Given the description of an element on the screen output the (x, y) to click on. 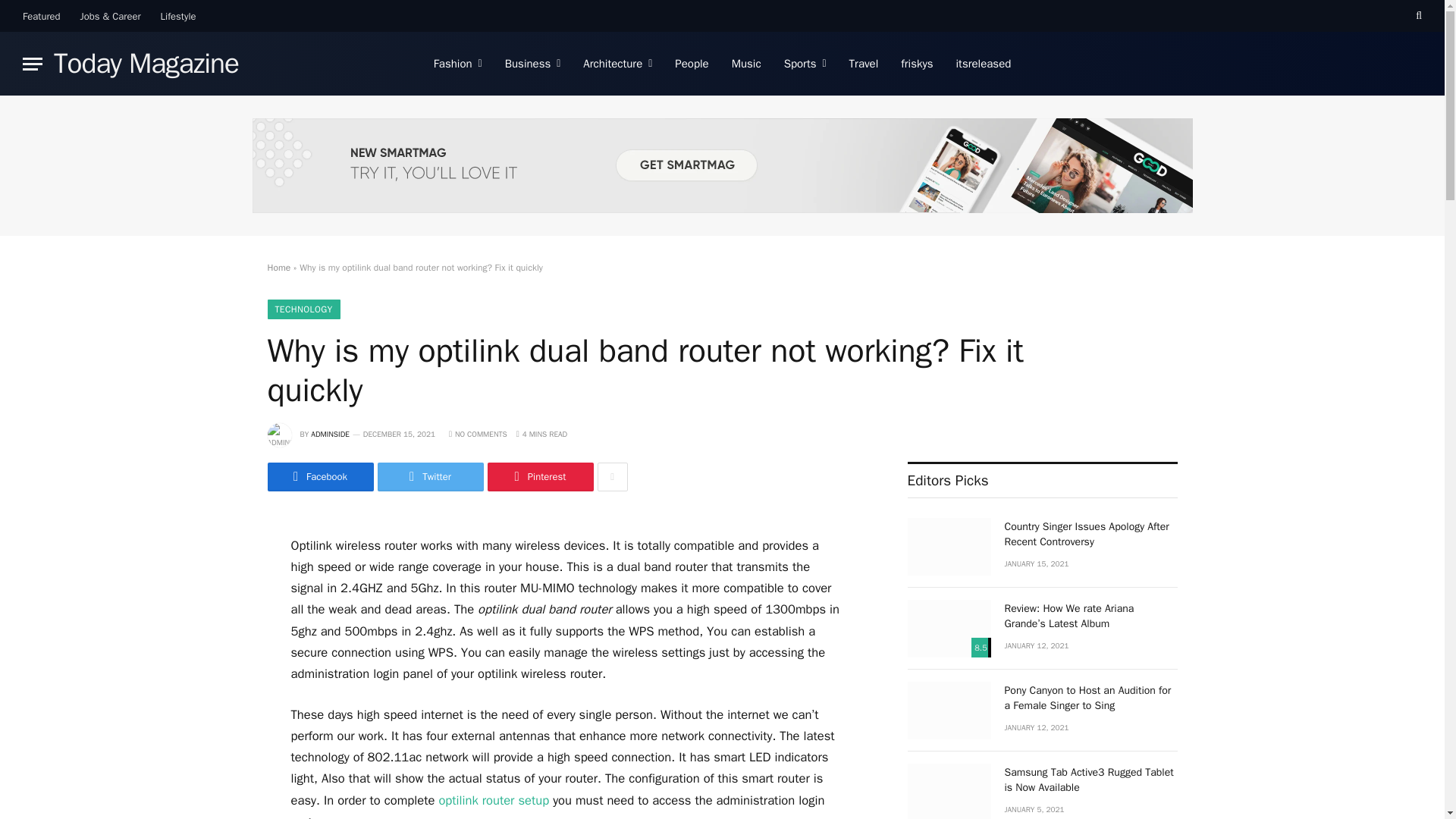
Sports (805, 63)
Business (532, 63)
itsreleased (983, 63)
Share on Facebook (319, 476)
Share on Pinterest (539, 476)
Architecture (617, 63)
Posts by adminside (330, 433)
Lifestyle (178, 15)
Fashion (457, 63)
Today Magazine (145, 63)
Show More Social Sharing (611, 476)
Today Magazine (145, 63)
Featured (41, 15)
